Given the description of an element on the screen output the (x, y) to click on. 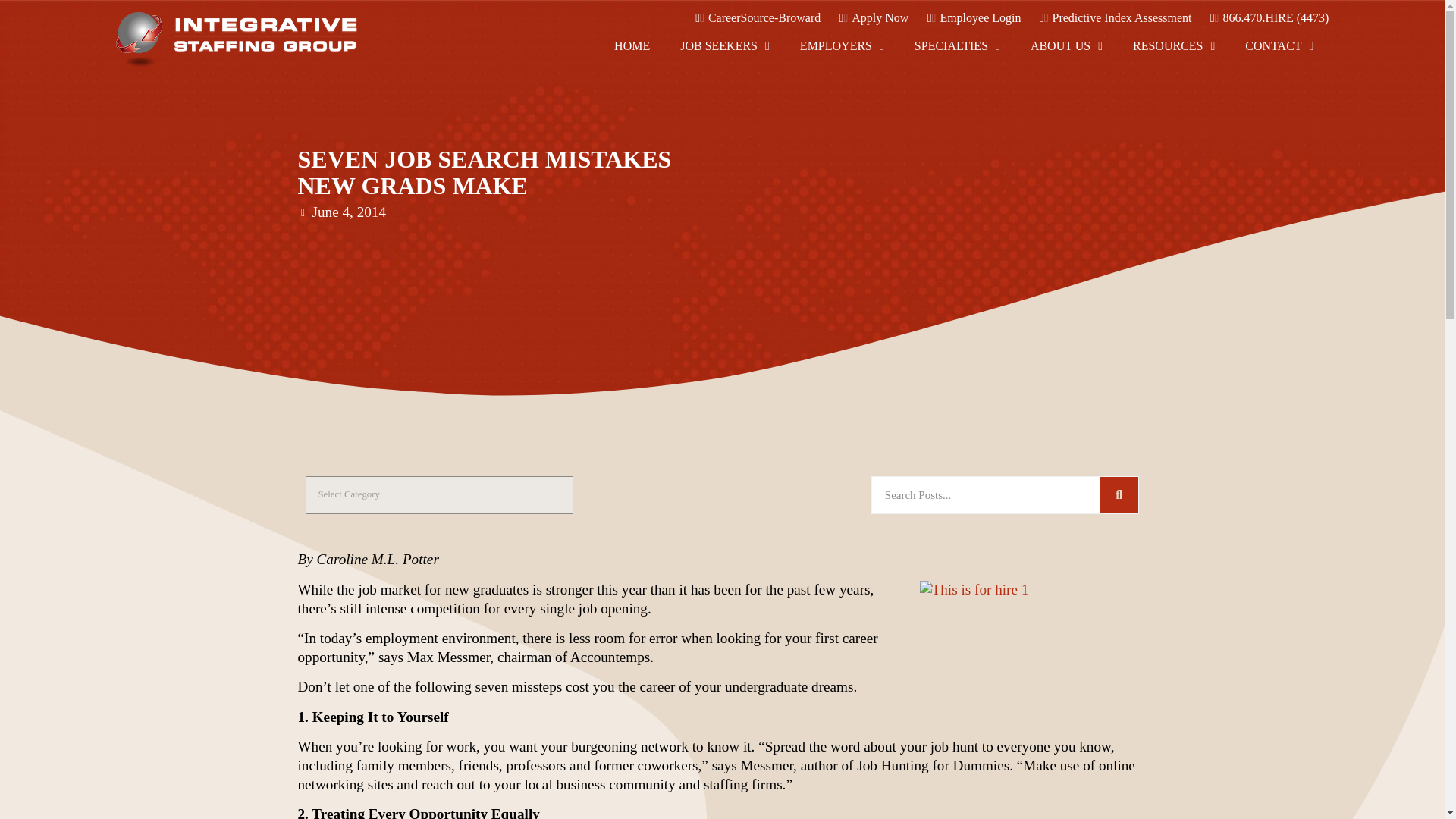
JOB SEEKERS (724, 25)
ABOUT US (1066, 45)
CONTACT (1278, 46)
RESOURCES (1174, 46)
SPECIALTIES (956, 40)
EMPLOYERS (841, 35)
HOME (631, 24)
